Given the description of an element on the screen output the (x, y) to click on. 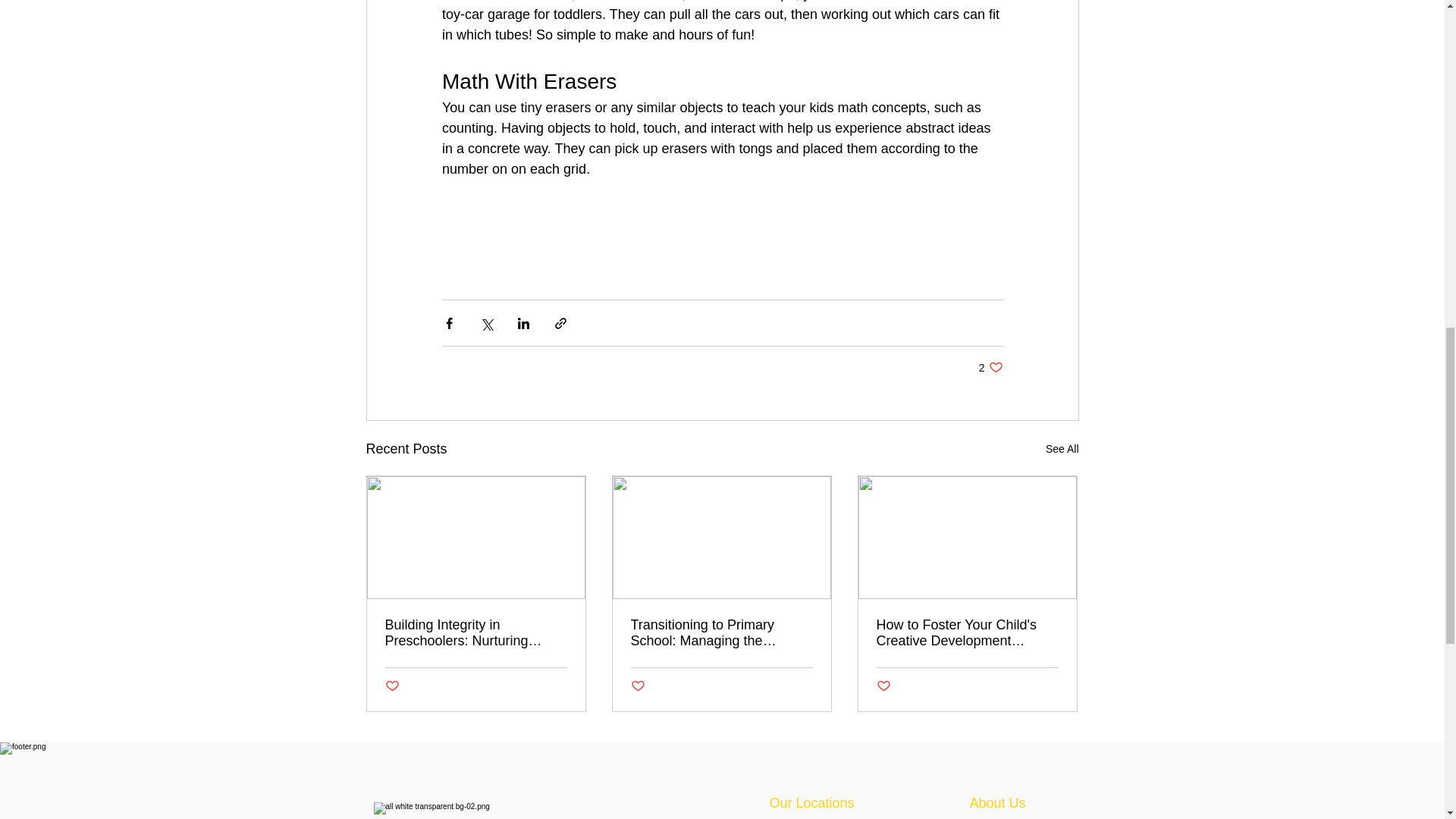
Post not marked as liked (391, 685)
Transitioning to Primary School: Managing the Nervousness (990, 367)
See All (721, 633)
Post not marked as liked (1061, 449)
Post not marked as liked (637, 685)
